Given the description of an element on the screen output the (x, y) to click on. 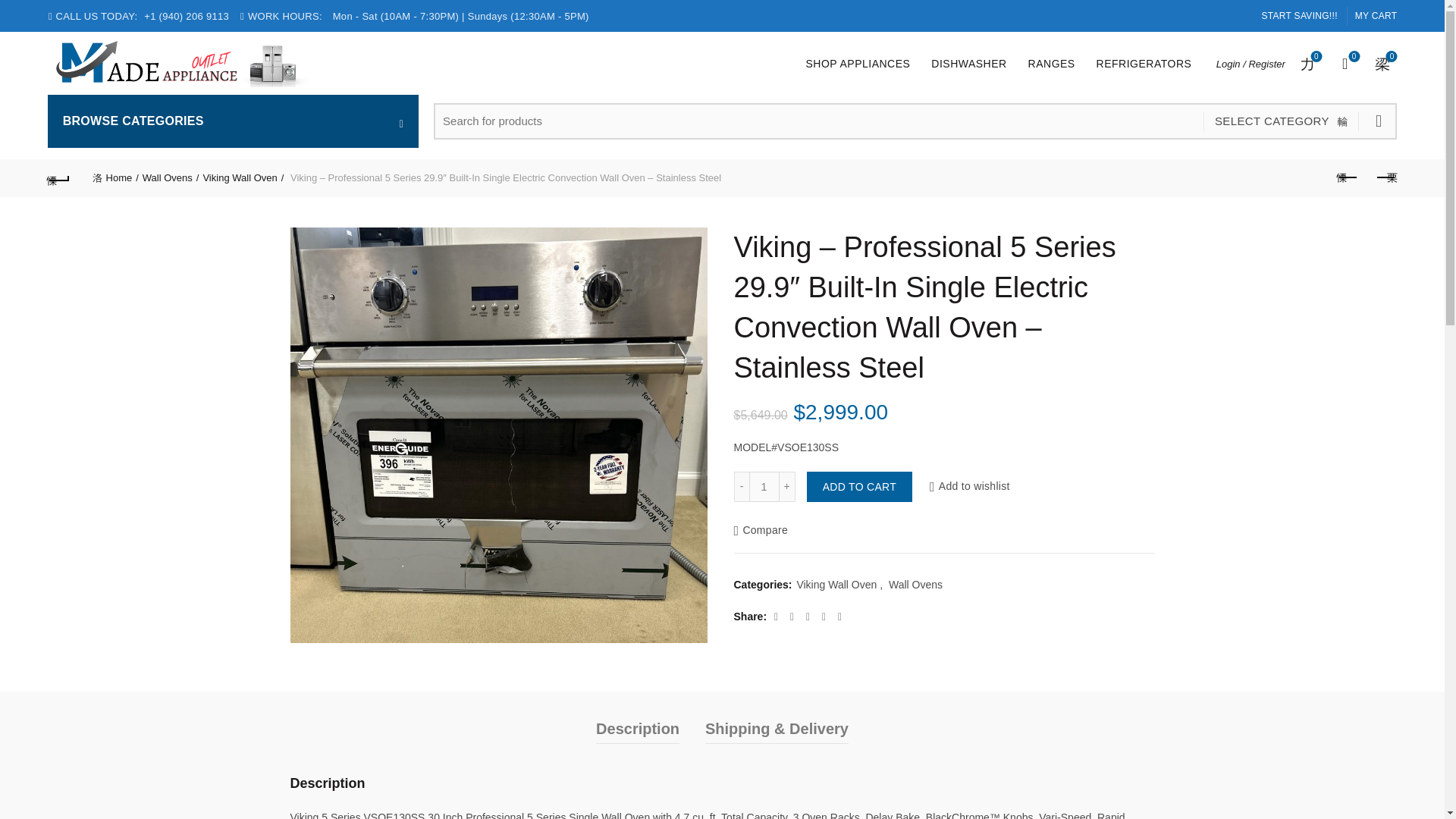
REFRIGERATORS (1144, 63)
START SAVING!!! (1344, 63)
RANGES (1298, 15)
SELECT CATEGORY (1050, 63)
0 (1281, 121)
1 (1383, 63)
VSOE130SS (763, 486)
DISHWASHER (857, 63)
